Given the description of an element on the screen output the (x, y) to click on. 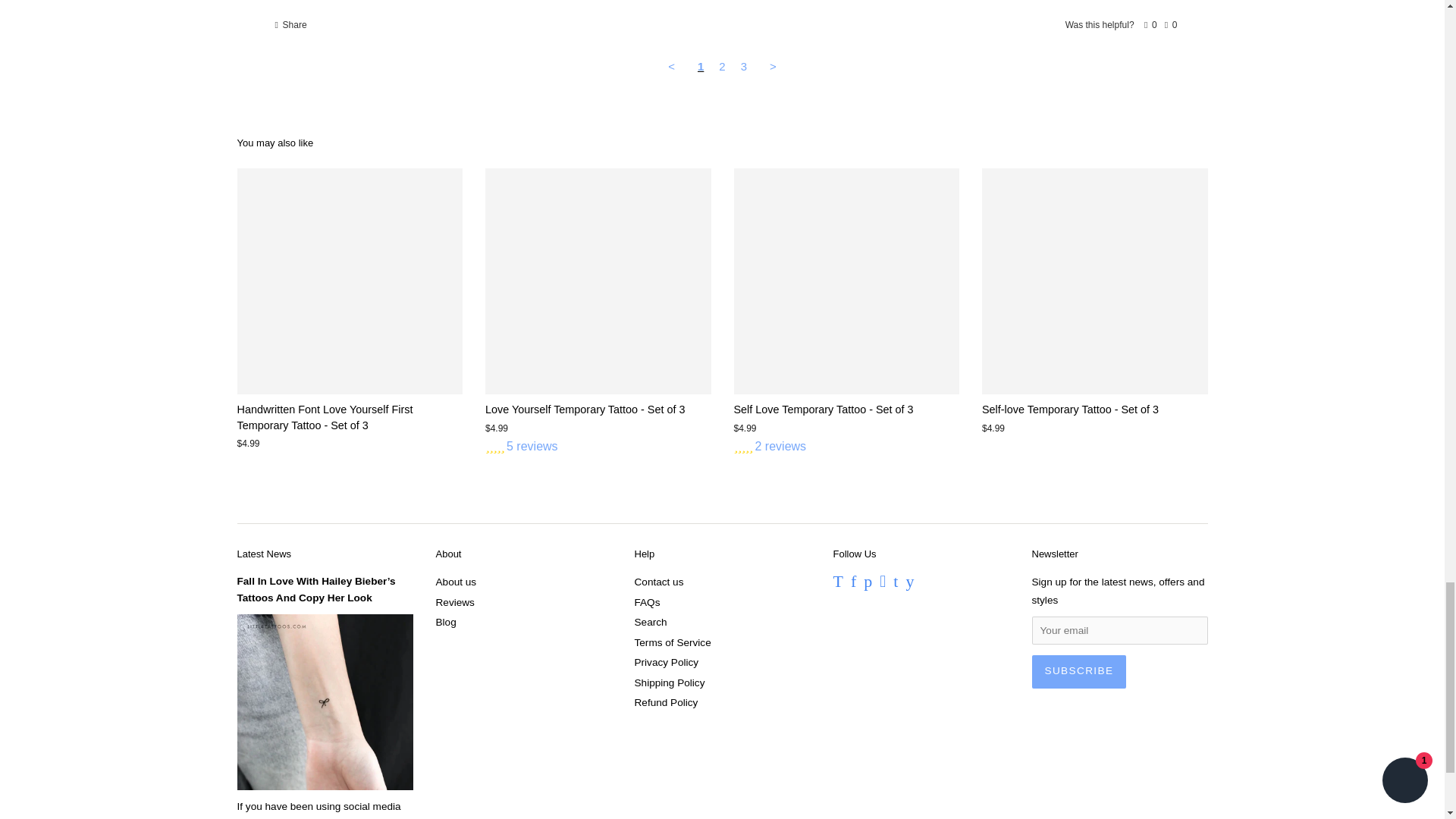
Subscribe (1077, 671)
